Given the description of an element on the screen output the (x, y) to click on. 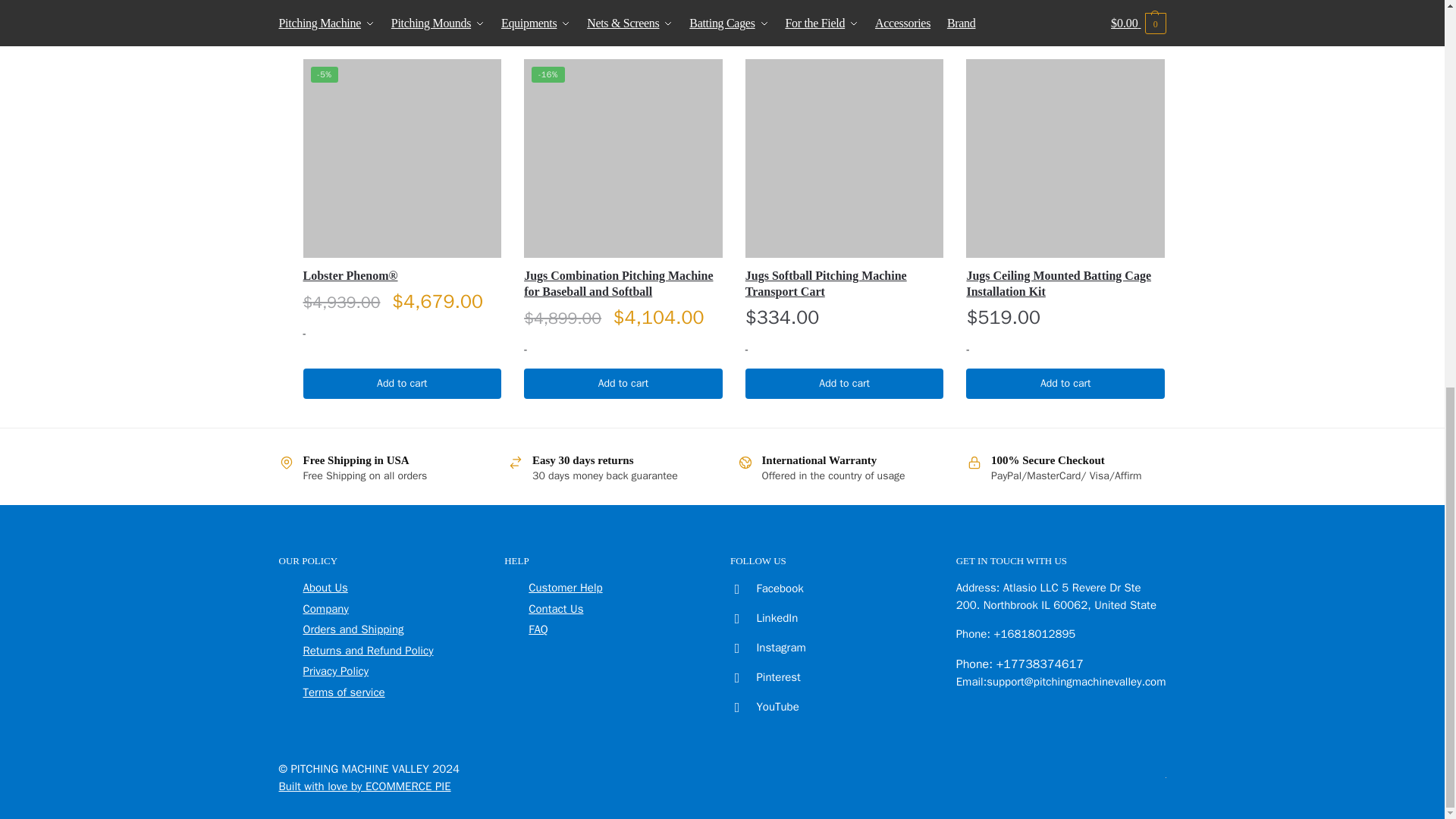
Instagram (764, 647)
Pinterest (761, 676)
YouTube (761, 706)
Facebook (763, 588)
LinkedIn (760, 617)
